Given the description of an element on the screen output the (x, y) to click on. 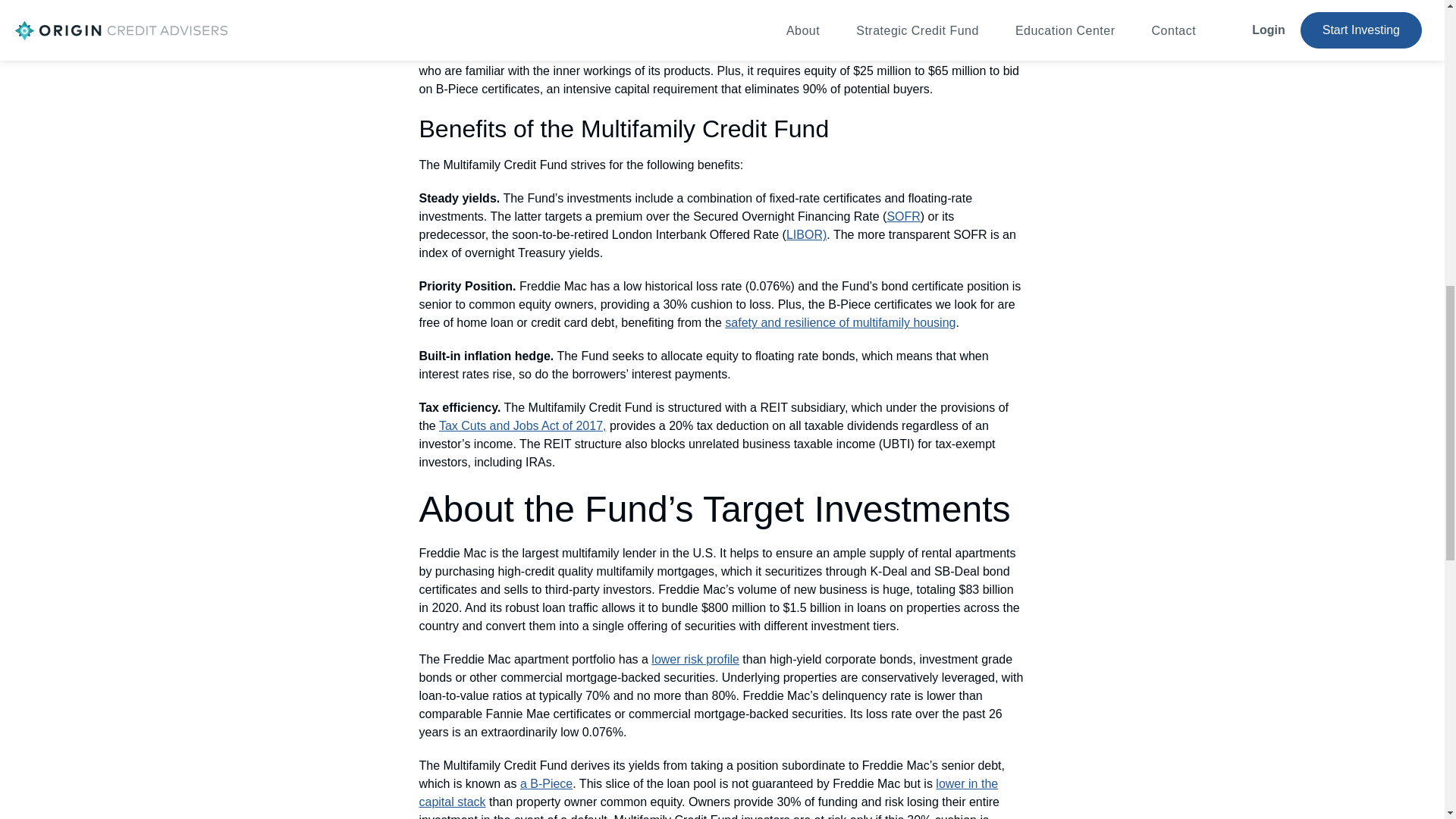
Origin Credit Advisers (477, 15)
SOFR (903, 215)
lower in the capital stack (708, 792)
Tax Cuts and Jobs Act of 2017, (523, 425)
Origin Investments (689, 33)
safety and resilience of multifamily housing (840, 322)
lower risk profile (694, 658)
a B-Piece (545, 783)
